Given the description of an element on the screen output the (x, y) to click on. 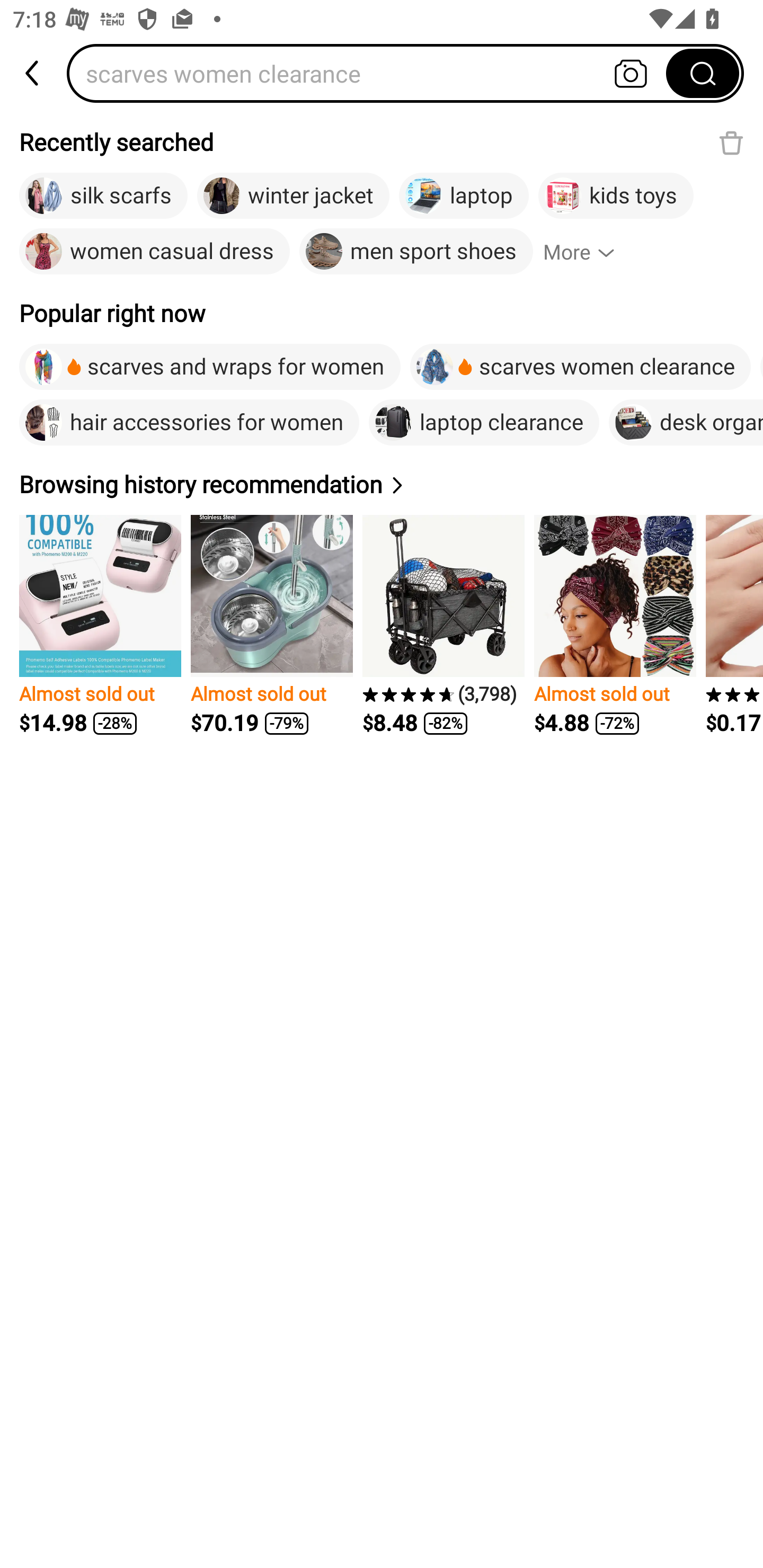
back (33, 72)
scarves women clearance (372, 73)
Search by photo (630, 73)
Delete recent search (731, 142)
silk scarfs (103, 195)
winter jacket (292, 195)
laptop (463, 195)
kids toys (615, 195)
women casual dress (154, 251)
men sport shoes (416, 251)
More (586, 251)
scarves and wraps for women (209, 366)
scarves women clearance (580, 366)
hair accessories for women (189, 422)
laptop clearance (483, 422)
desk organizers and accessories (685, 422)
Browsing history recommendation (213, 484)
Almost sold out $14.98 -28% (100, 625)
Almost sold out $70.19 -79% (271, 625)
(3,798) $8.48 -82% (443, 625)
Almost sold out $4.88 -72% (614, 625)
